Given the description of an element on the screen output the (x, y) to click on. 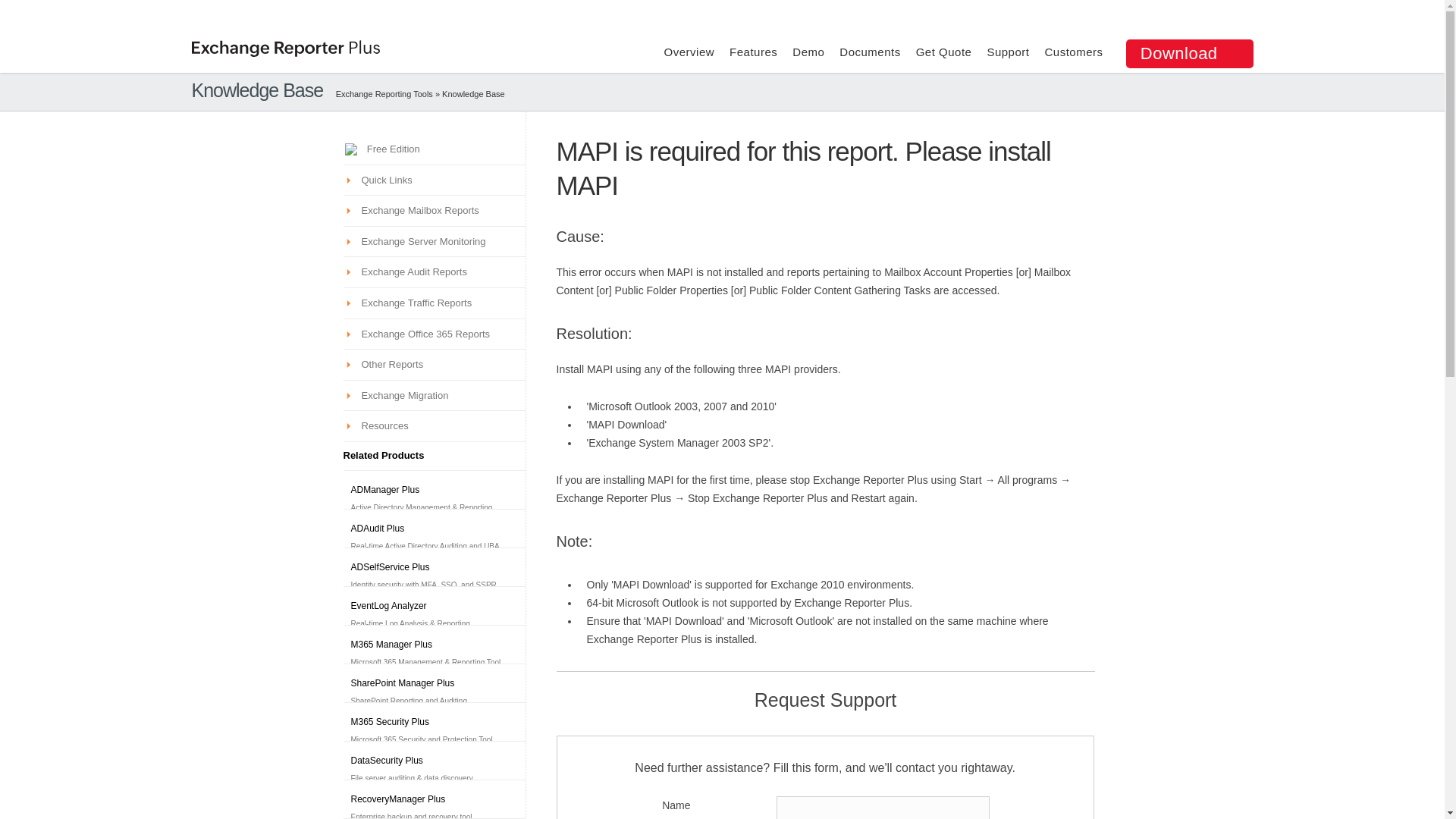
Download   (1188, 53)
Demo (808, 51)
Get Quote (943, 51)
Demo (808, 51)
Support (1008, 51)
Demos (473, 93)
  Free Edition (390, 148)
Download ExchangeReporter Plus (1188, 53)
Exchange Reporting Tools (384, 93)
Knowledge Base (473, 93)
Overview (688, 51)
Support (1008, 51)
Documents (869, 51)
Features (753, 51)
Exchange Reporting Tools (384, 93)
